Given the description of an element on the screen output the (x, y) to click on. 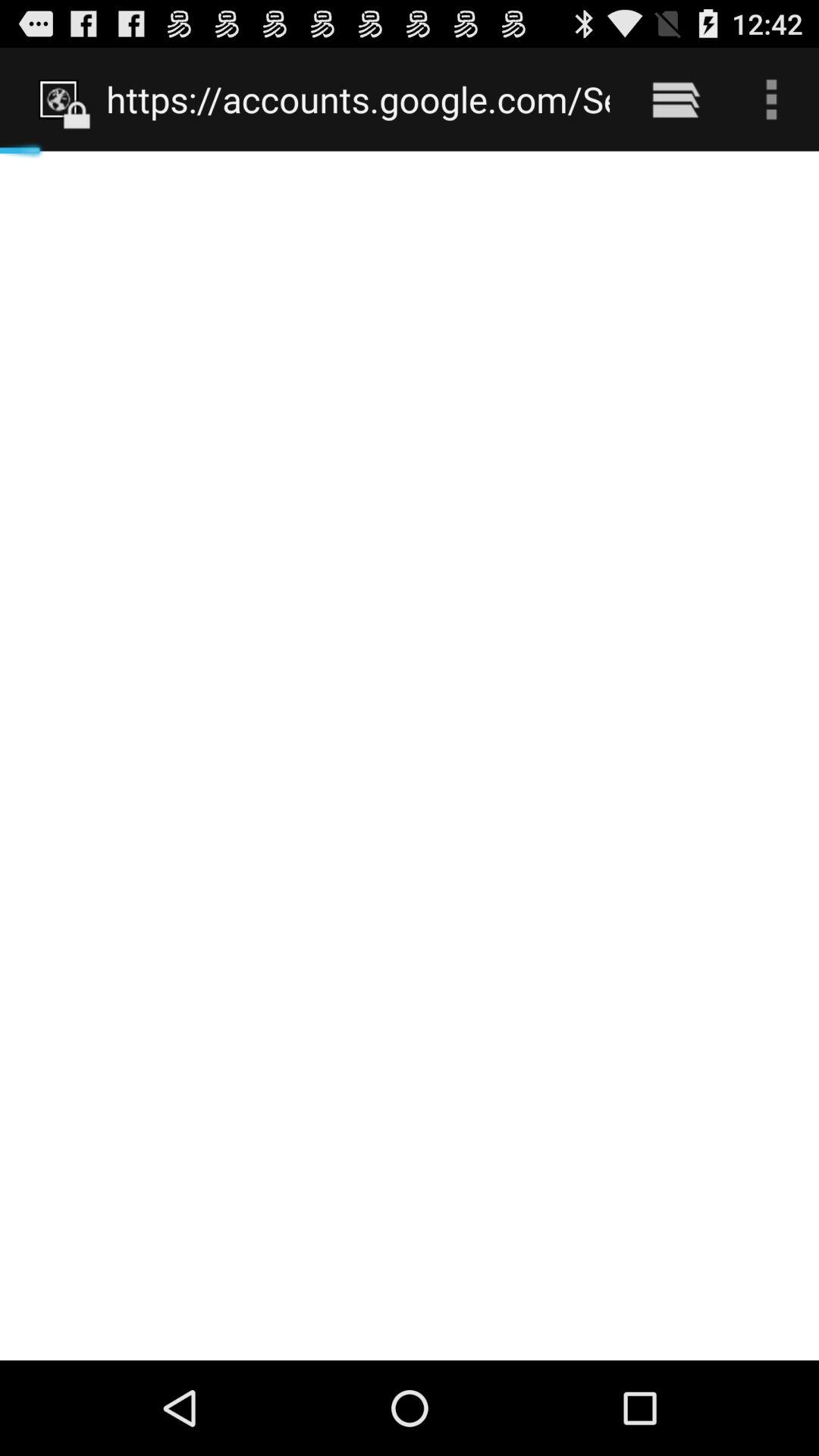
swipe to https accounts google icon (357, 99)
